Given the description of an element on the screen output the (x, y) to click on. 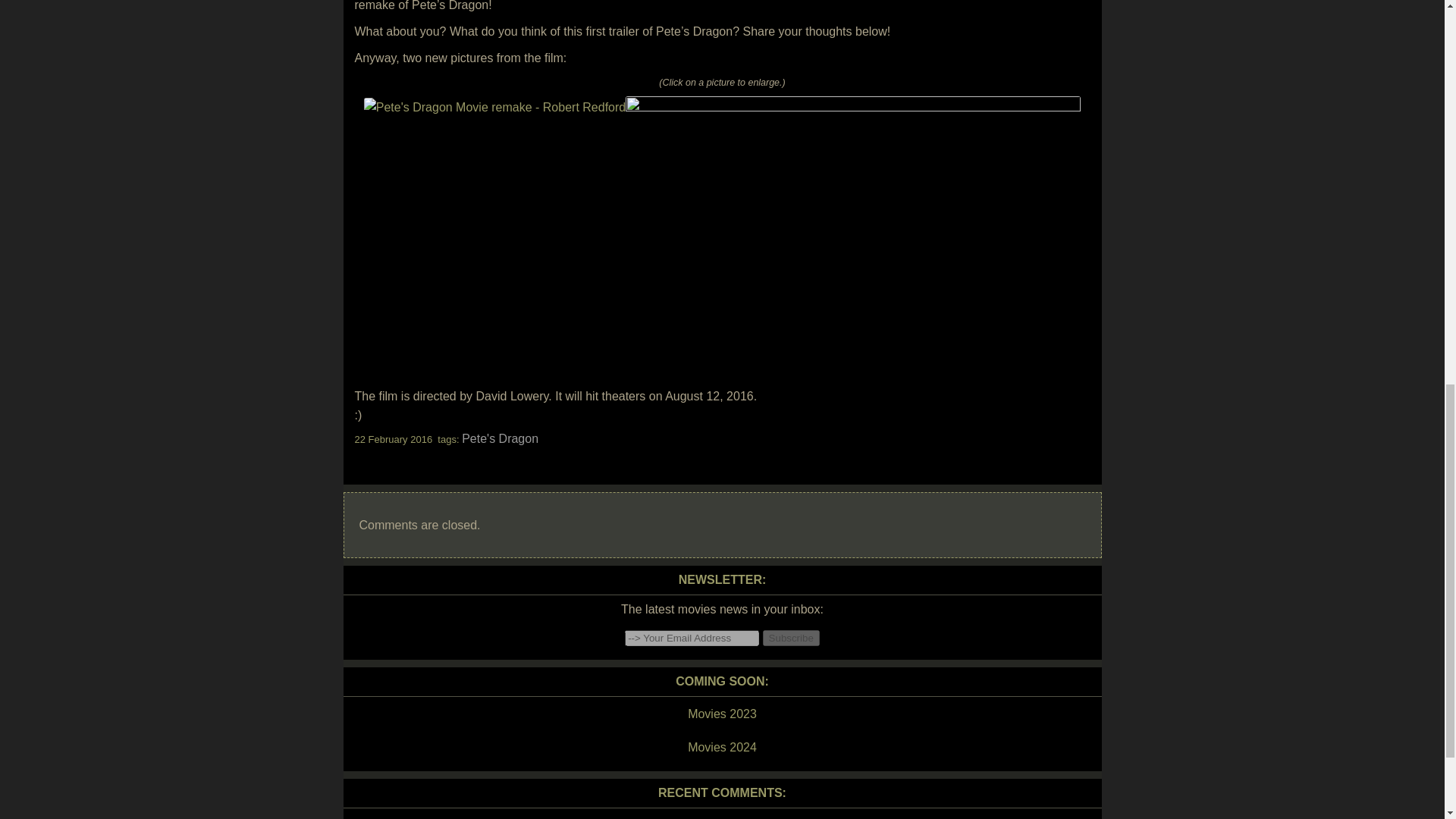
Movies 2024 (721, 747)
Movies 2023 (721, 713)
Pete's Dragon (499, 438)
Subscribe (790, 637)
Subscribe (790, 637)
